Given the description of an element on the screen output the (x, y) to click on. 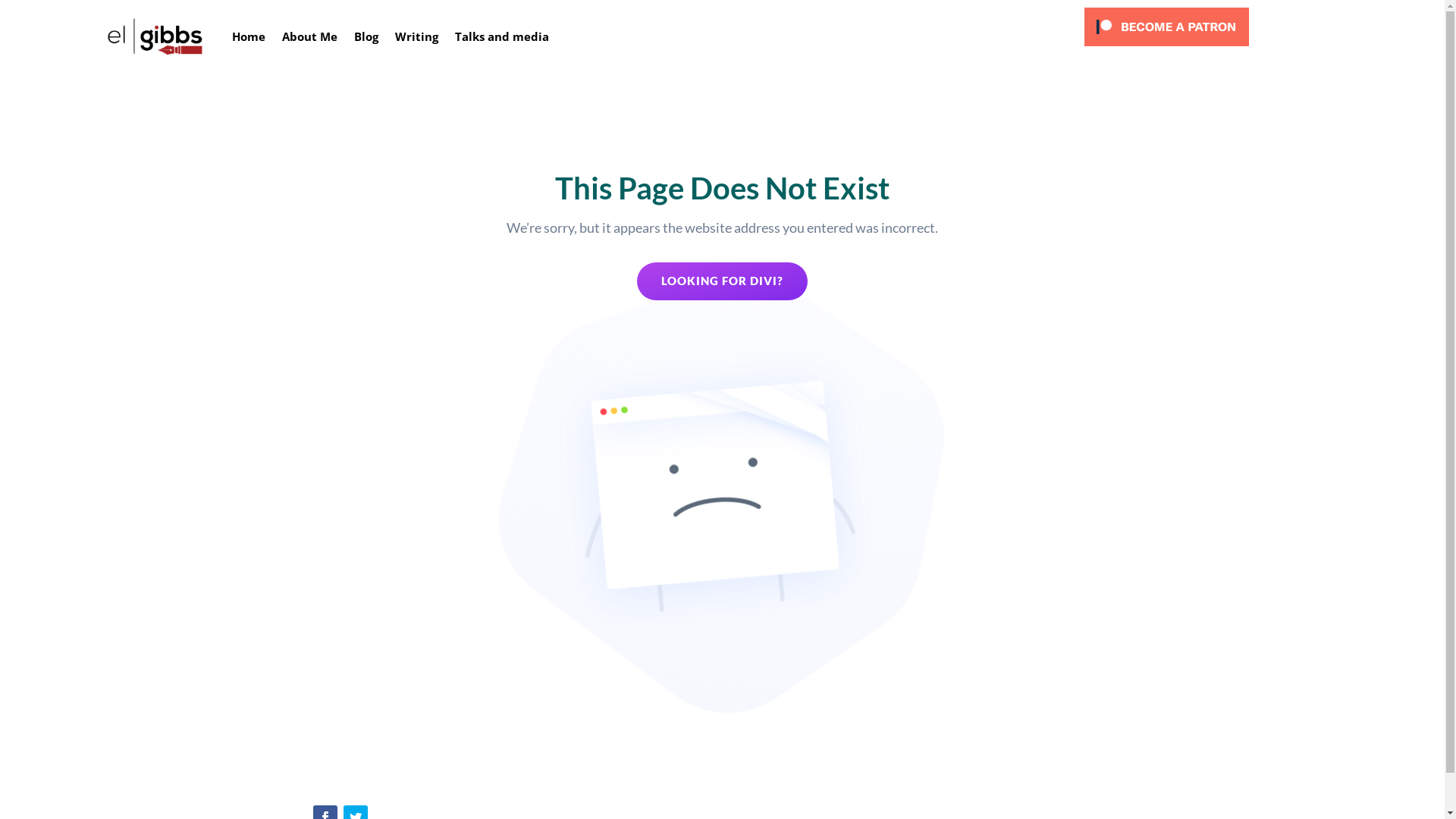
Talks and media Element type: text (502, 36)
Blog Element type: text (366, 36)
LOOKING FOR DIVI? Element type: text (722, 281)
About Me Element type: text (309, 36)
Writing Element type: text (416, 36)
Home Element type: text (248, 36)
